Given the description of an element on the screen output the (x, y) to click on. 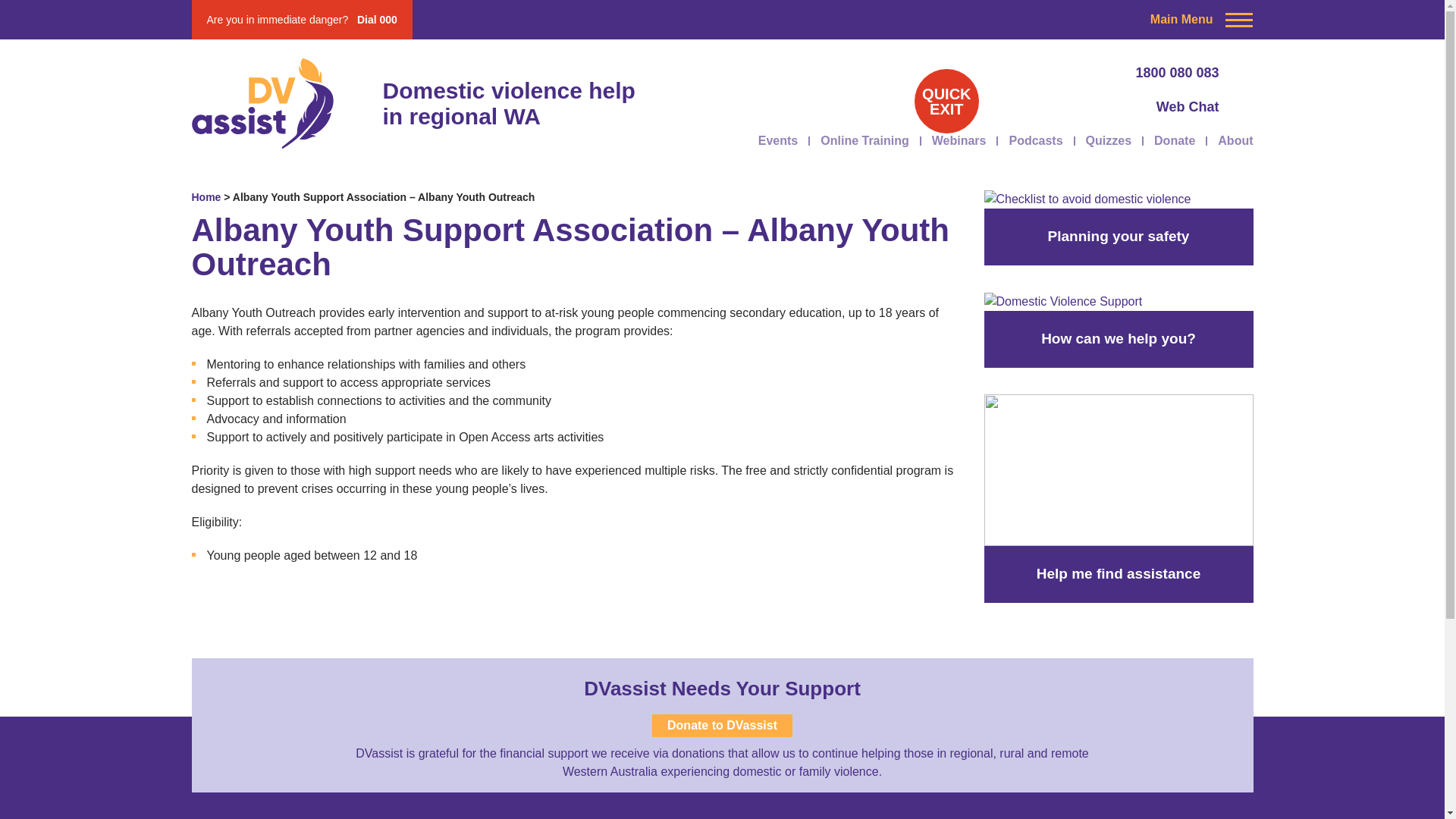
How can we help you? (1118, 500)
About (1234, 140)
1800 080 083 (1083, 73)
Online Training (864, 140)
Podcasts (1035, 140)
Go to DVassist. (205, 196)
Dial 000 (376, 19)
Home (205, 196)
Donate (1174, 140)
Quizzes (1108, 140)
Help me find assistance (1118, 735)
Webinars (959, 140)
Events (777, 140)
Web Chat (1083, 107)
QUICK EXIT (946, 100)
